Given the description of an element on the screen output the (x, y) to click on. 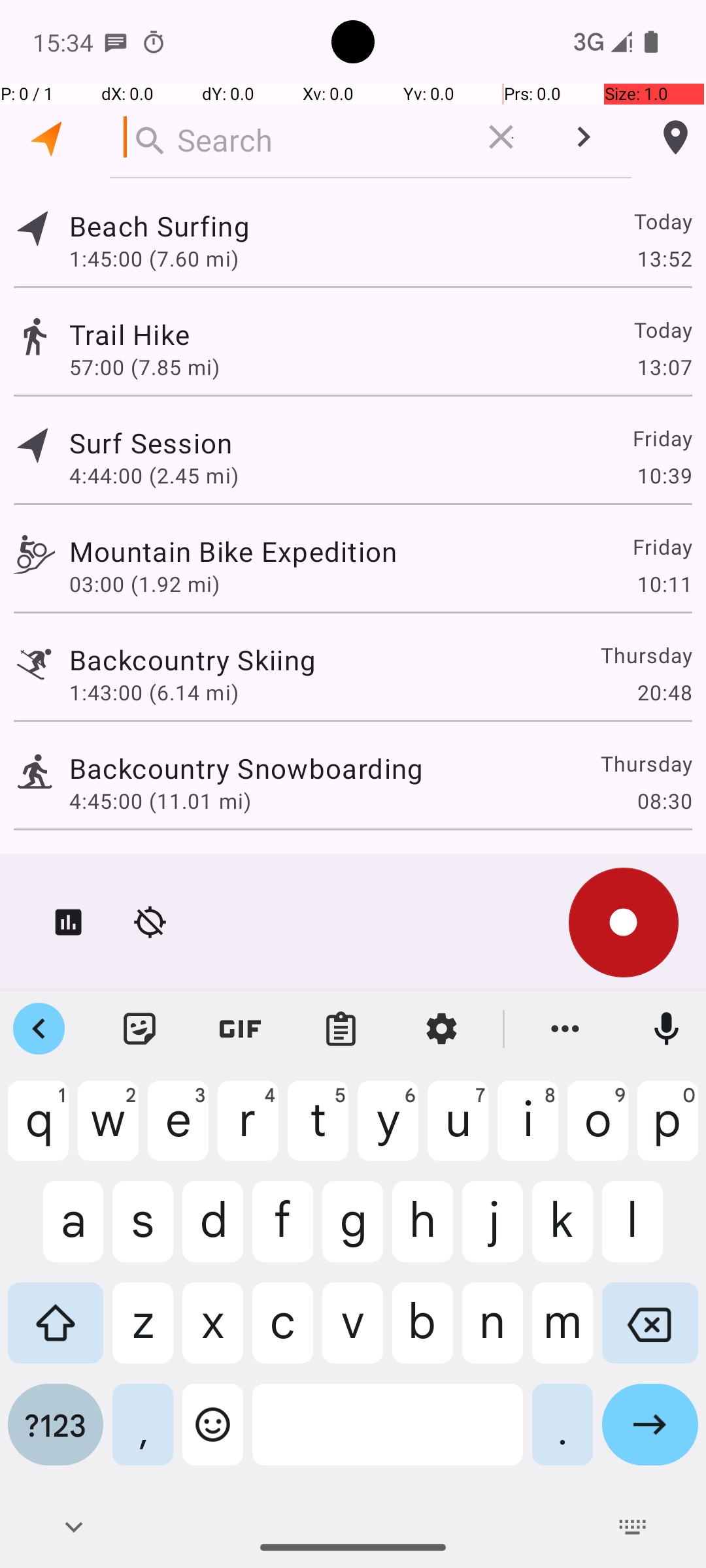
Beach Surfing Element type: android.widget.TextView (159, 225)
1:45:00 (7.60 mi) Element type: android.widget.TextView (153, 258)
13:52 Element type: android.widget.TextView (664, 258)
Trail Hike Element type: android.widget.TextView (129, 333)
57:00 (7.85 mi) Element type: android.widget.TextView (144, 366)
13:07 Element type: android.widget.TextView (664, 366)
Surf Session Element type: android.widget.TextView (150, 442)
4:44:00 (2.45 mi) Element type: android.widget.TextView (153, 475)
10:39 Element type: android.widget.TextView (664, 475)
Mountain Bike Expedition Element type: android.widget.TextView (233, 550)
03:00 (1.92 mi) Element type: android.widget.TextView (144, 583)
10:11 Element type: android.widget.TextView (664, 583)
Backcountry Skiing Element type: android.widget.TextView (192, 659)
1:43:00 (6.14 mi) Element type: android.widget.TextView (153, 692)
20:48 Element type: android.widget.TextView (664, 692)
Backcountry Snowboarding Element type: android.widget.TextView (246, 767)
4:45:00 (11.01 mi) Element type: android.widget.TextView (159, 800)
Paddling Adventure Element type: android.widget.TextView (194, 869)
Go Element type: android.widget.FrameLayout (649, 1434)
